Given the description of an element on the screen output the (x, y) to click on. 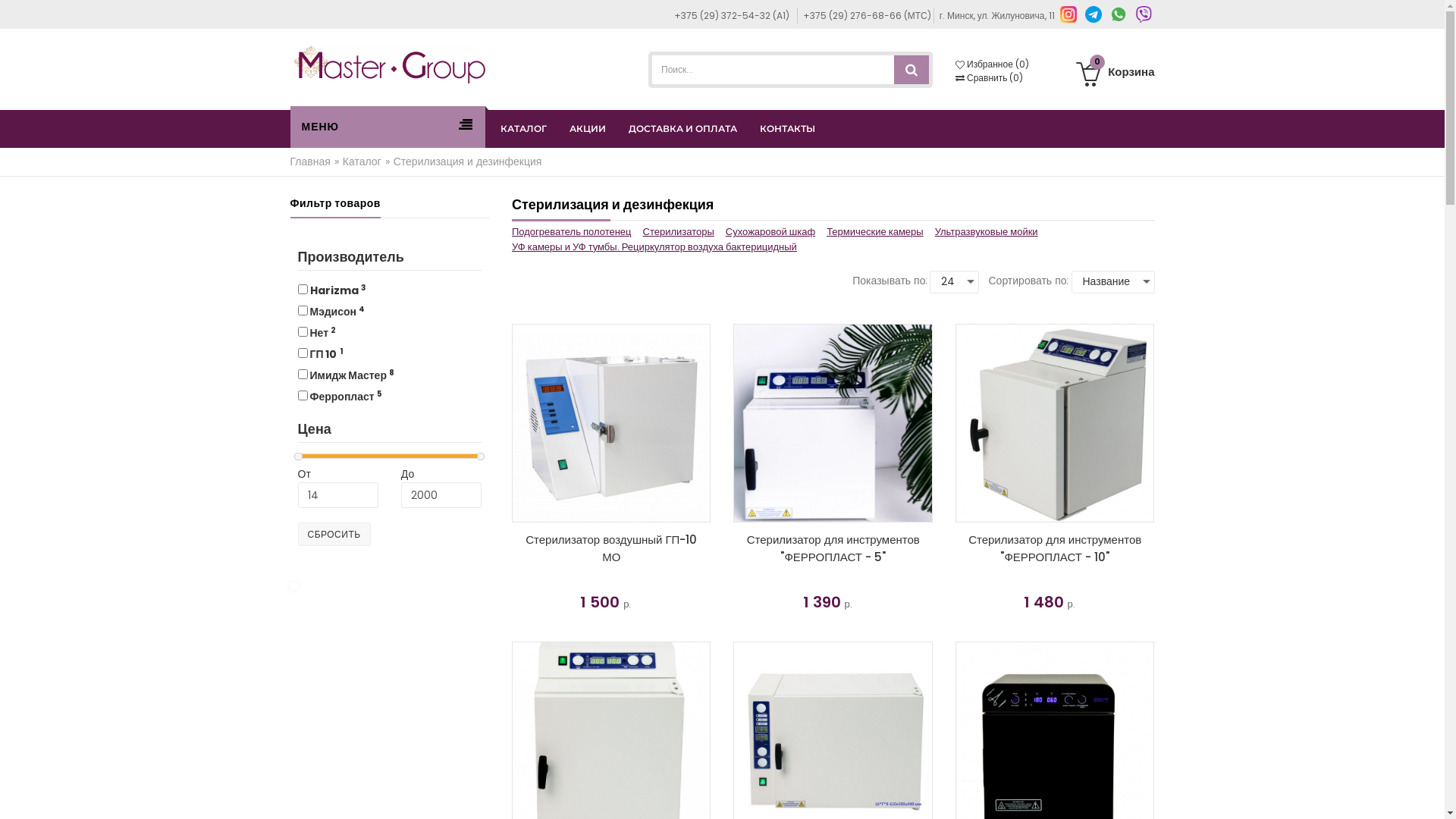
cart/add Element type: text (832, 649)
e-commerce Element type: hover (389, 63)
cart/add Element type: text (1054, 649)
cart/add Element type: text (610, 649)
